Given the description of an element on the screen output the (x, y) to click on. 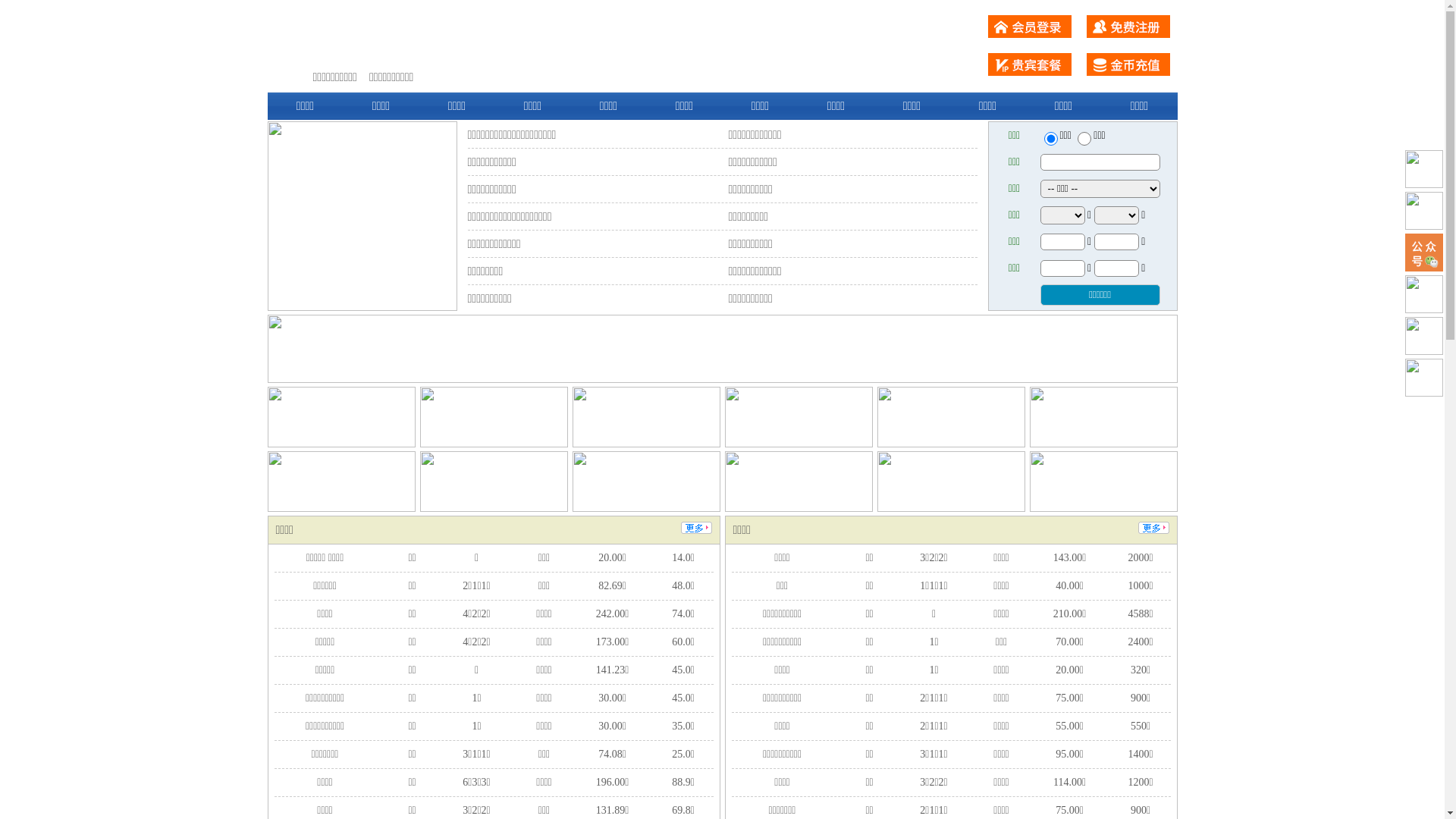
ershou Element type: text (1050, 138)
chuzu Element type: text (1084, 138)
